Given the description of an element on the screen output the (x, y) to click on. 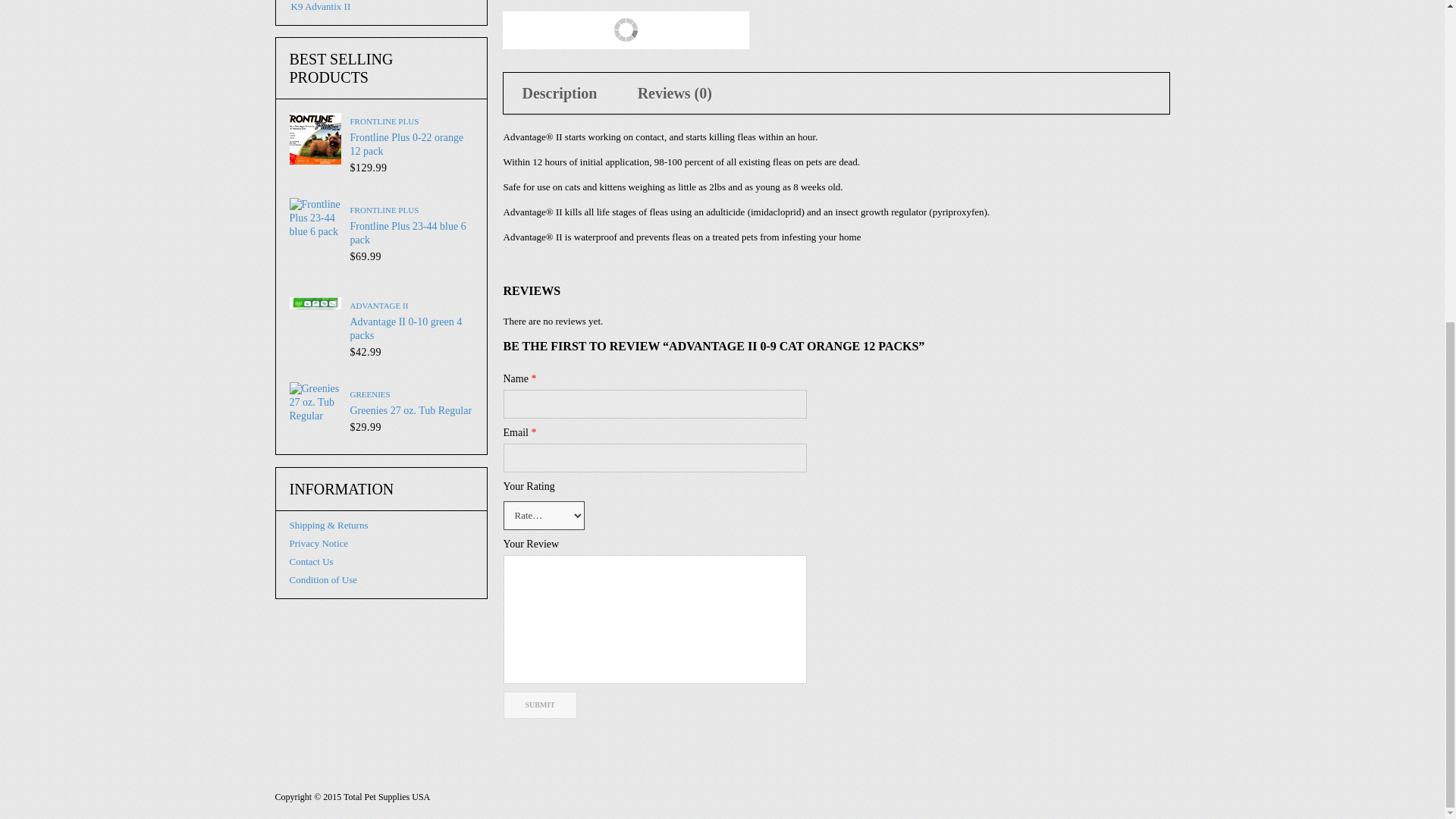
Frontline Plus  0-22    orange 12 pack (314, 138)
K9 Advantix II (319, 6)
Submit (539, 705)
